Given the description of an element on the screen output the (x, y) to click on. 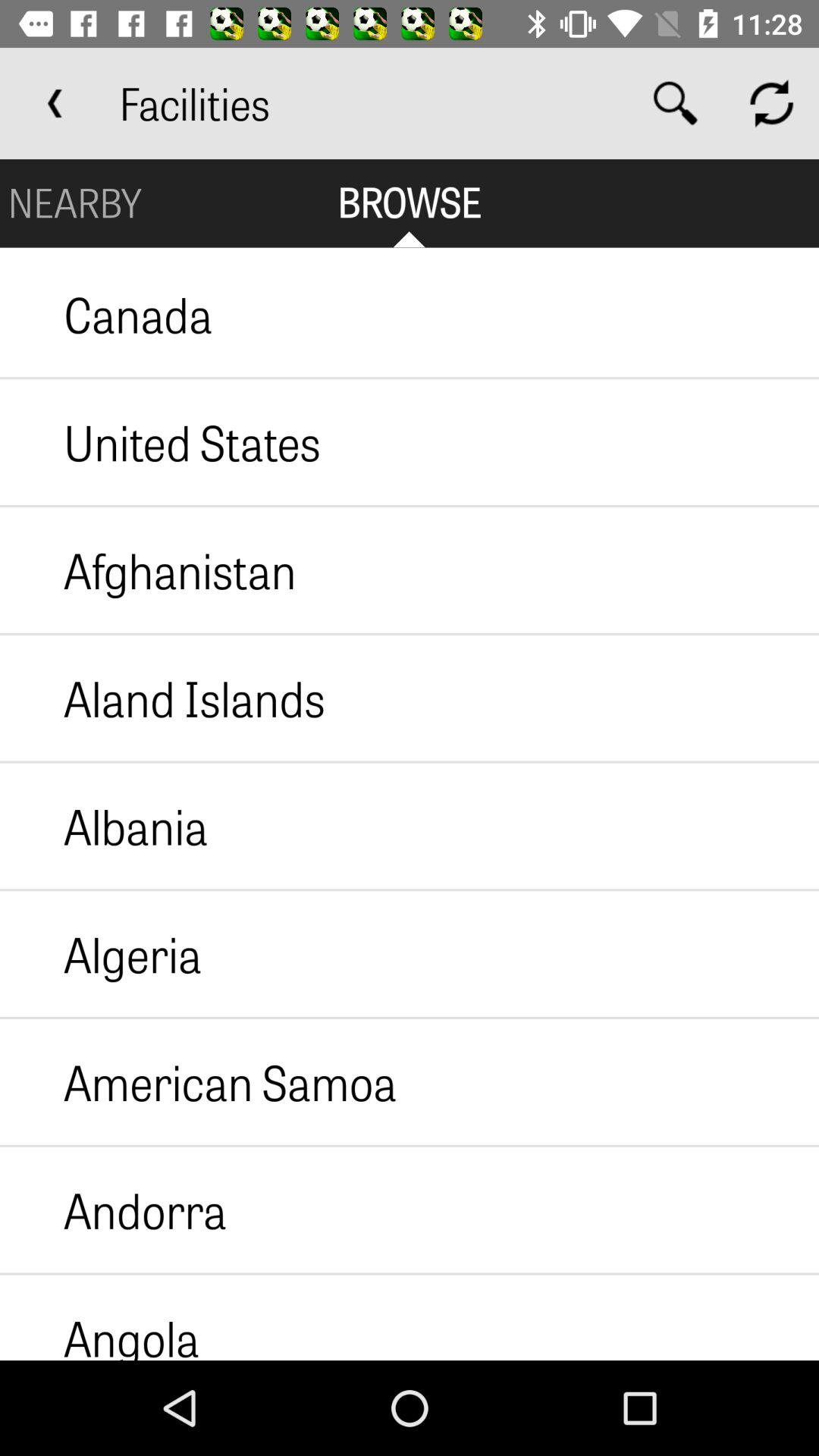
jump to the united states (160, 442)
